Given the description of an element on the screen output the (x, y) to click on. 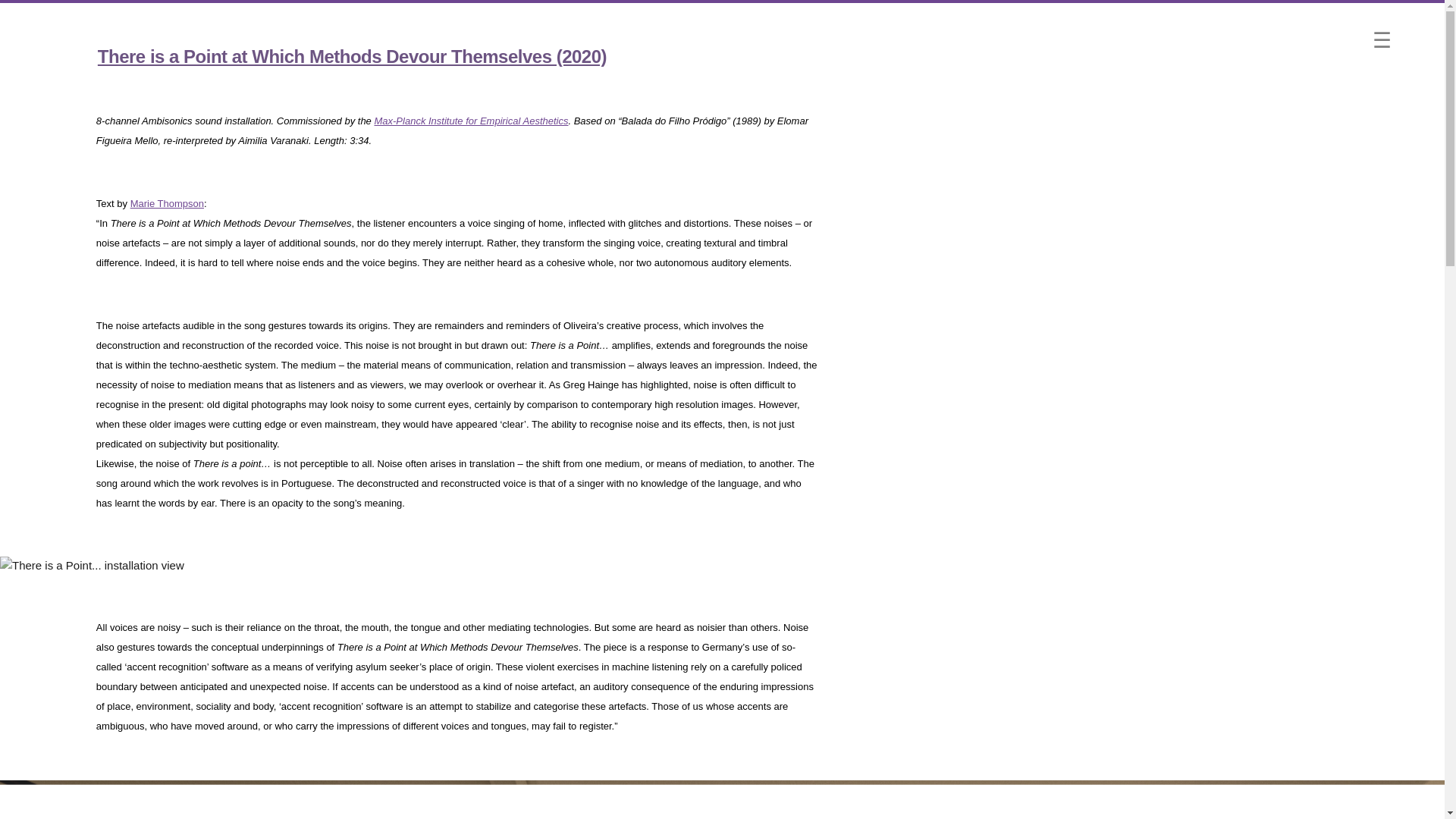
Marie Thompson (167, 203)
Max-Planck Institute for Empirical Aesthetics (470, 120)
There is a Point at Which Methods Devour Themselves (352, 55)
